Given the description of an element on the screen output the (x, y) to click on. 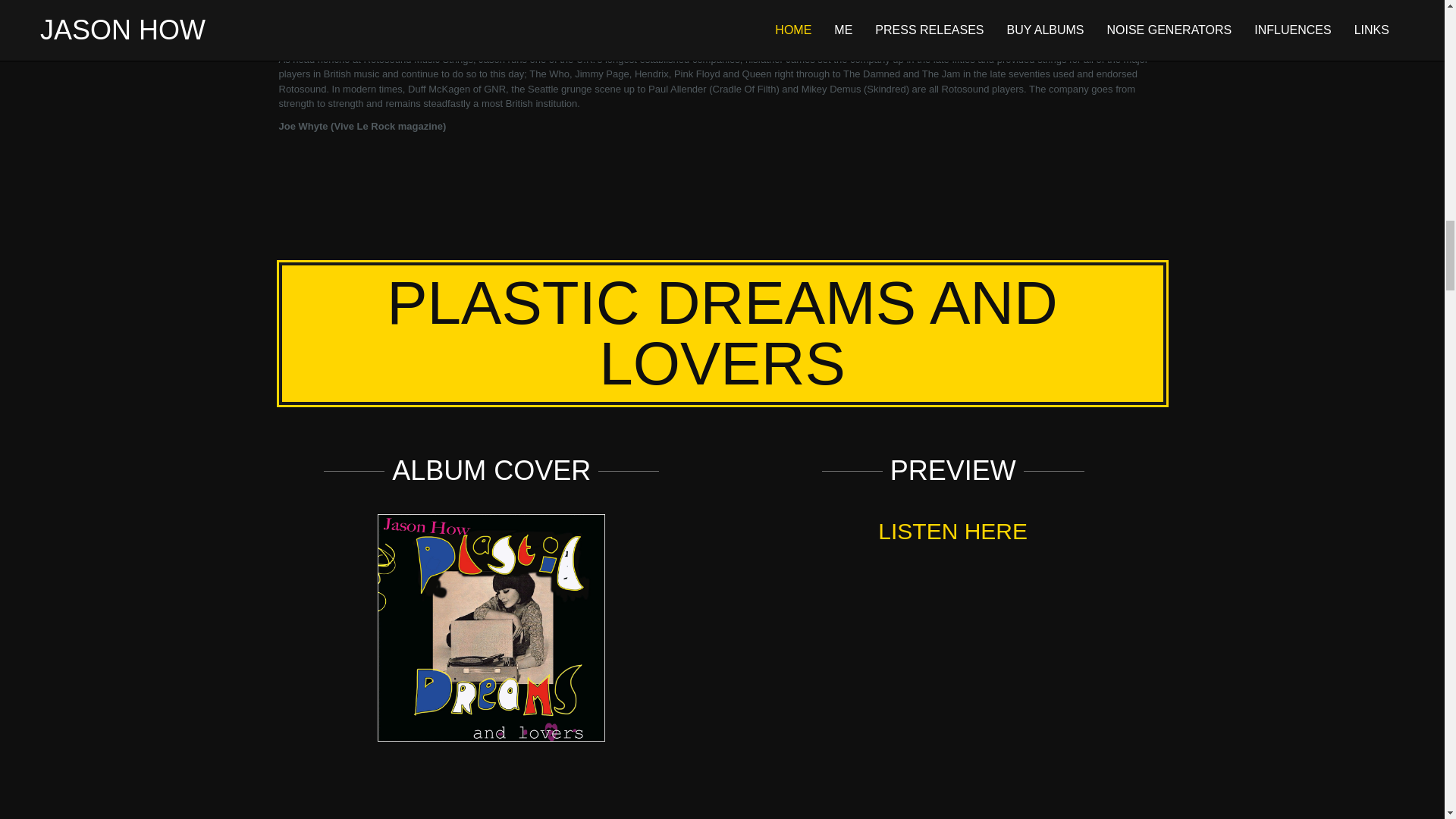
LISTEN HERE (952, 530)
